Given the description of an element on the screen output the (x, y) to click on. 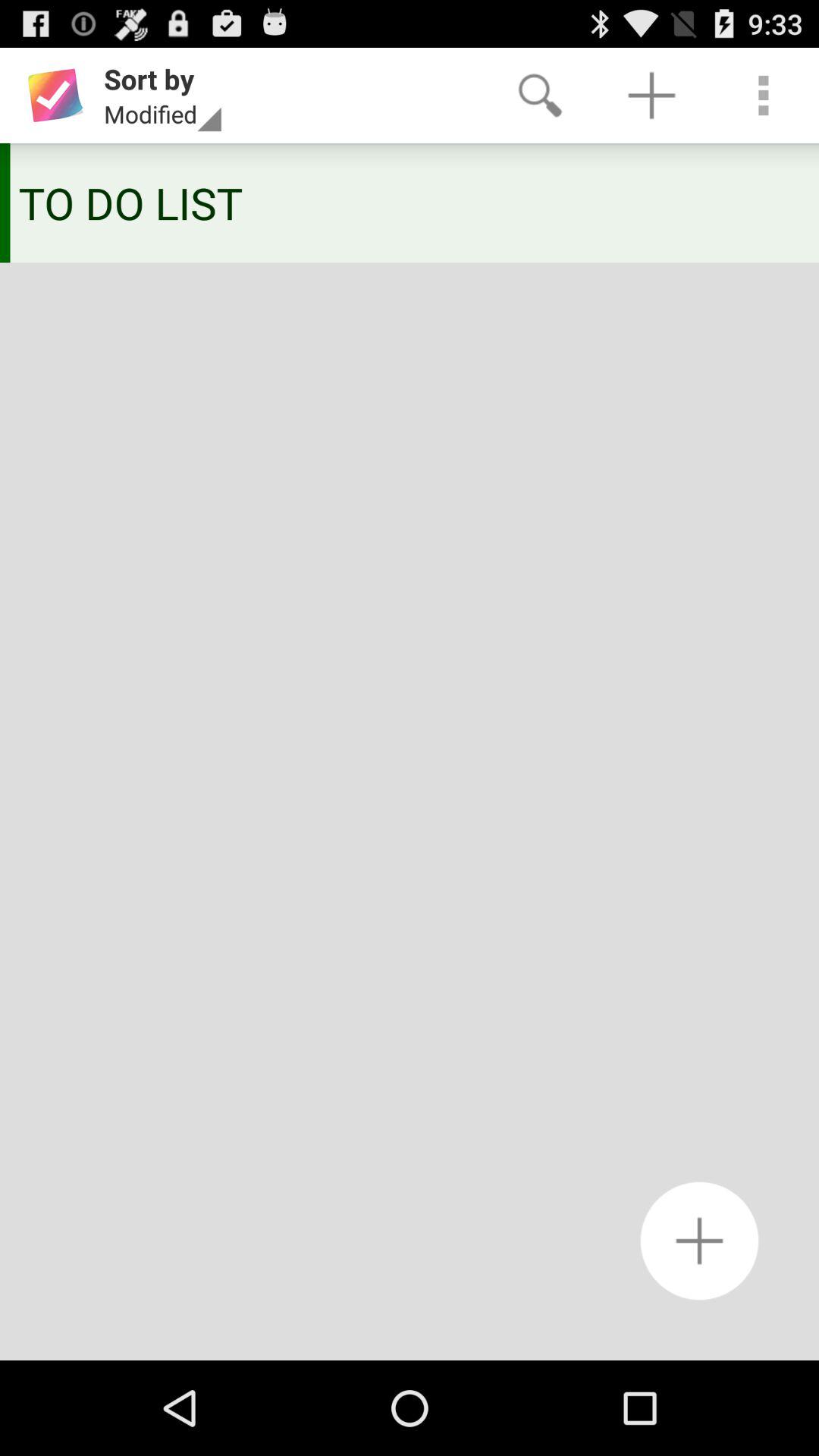
launch item above the to do list item (763, 95)
